Given the description of an element on the screen output the (x, y) to click on. 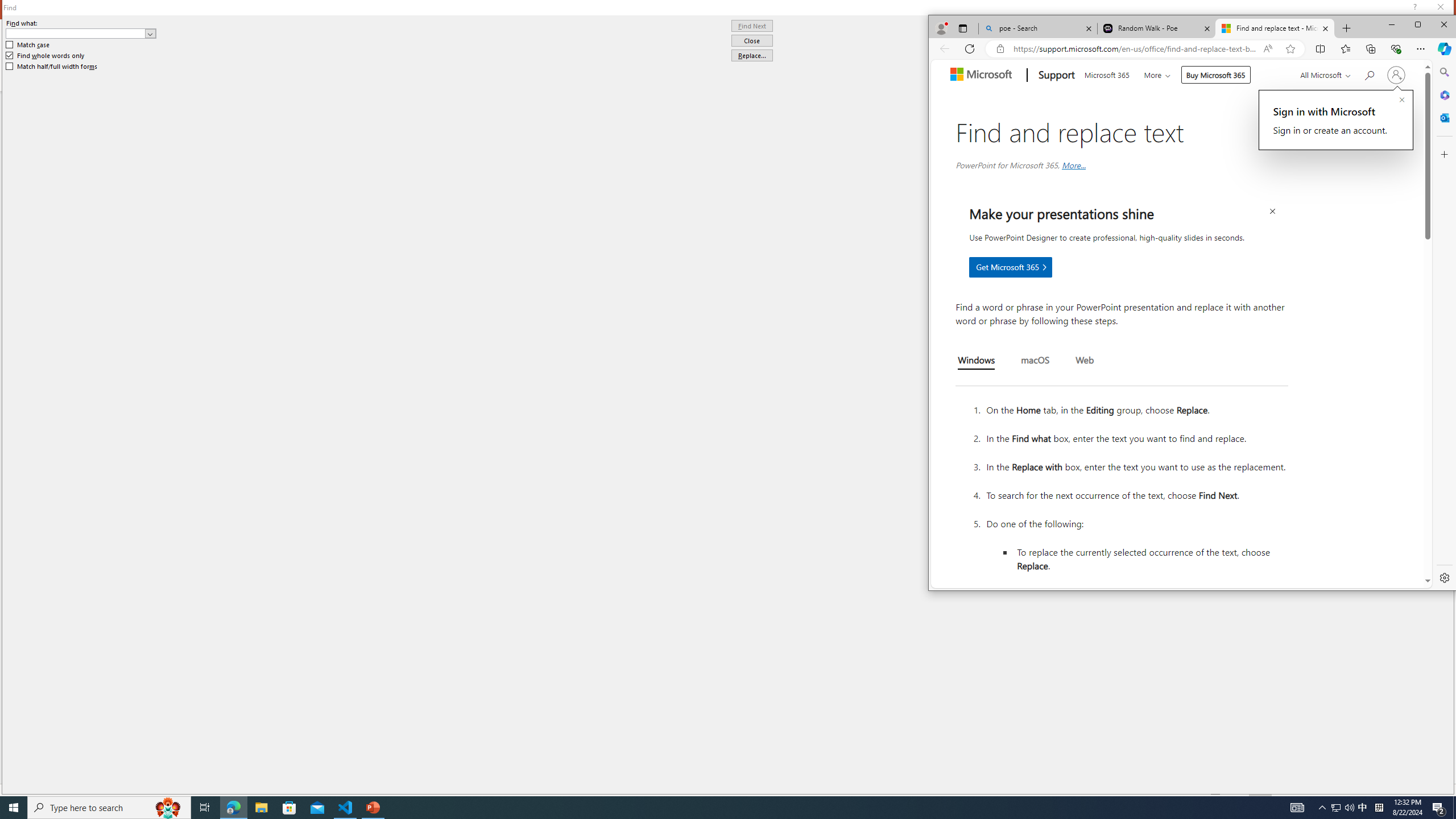
Outlook (1444, 117)
Split screen (1320, 48)
Address and search bar (1135, 48)
Find and replace text - Microsoft Support (1275, 28)
